Given the description of an element on the screen output the (x, y) to click on. 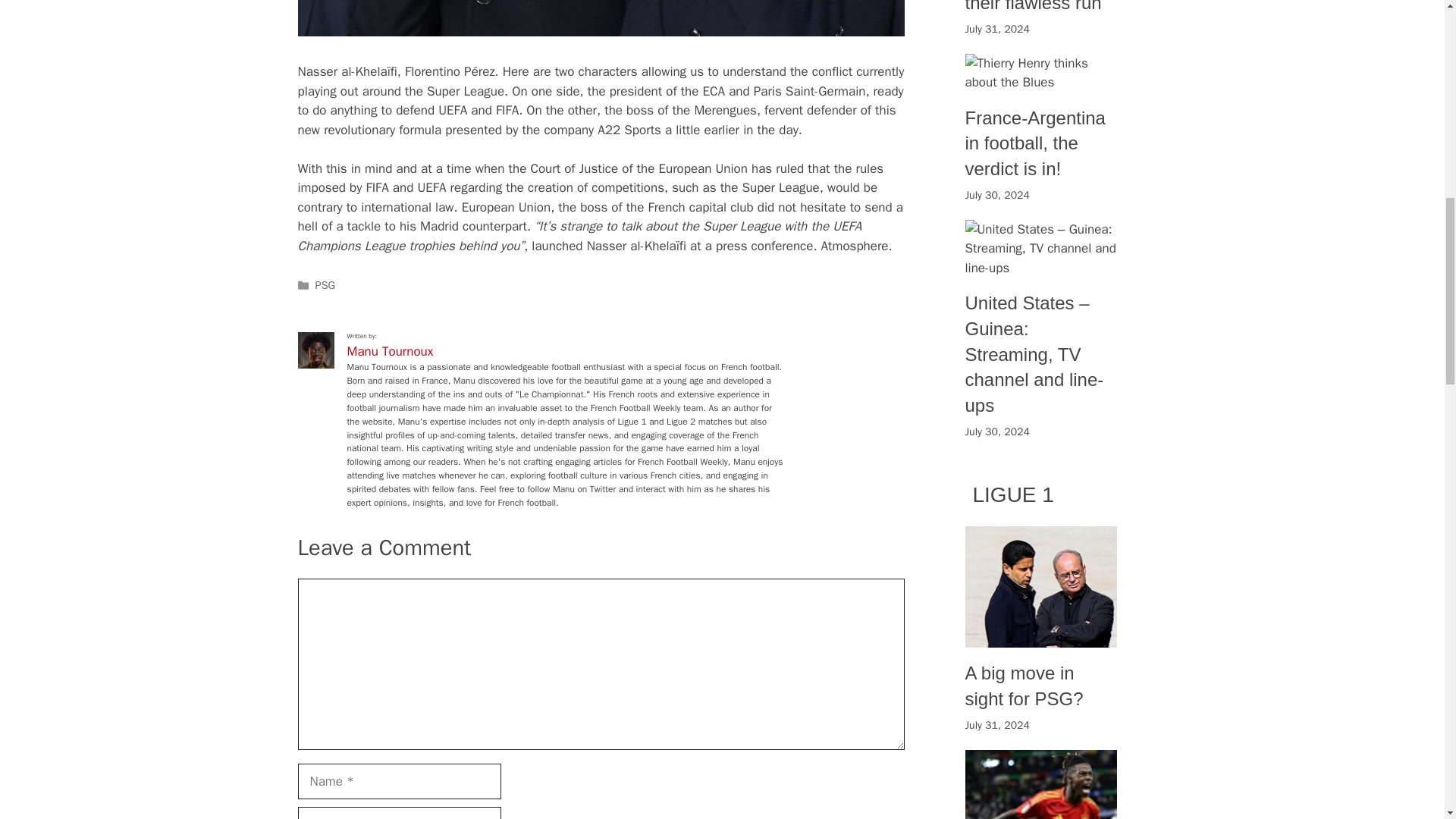
Scroll back to top (1406, 720)
